Given the description of an element on the screen output the (x, y) to click on. 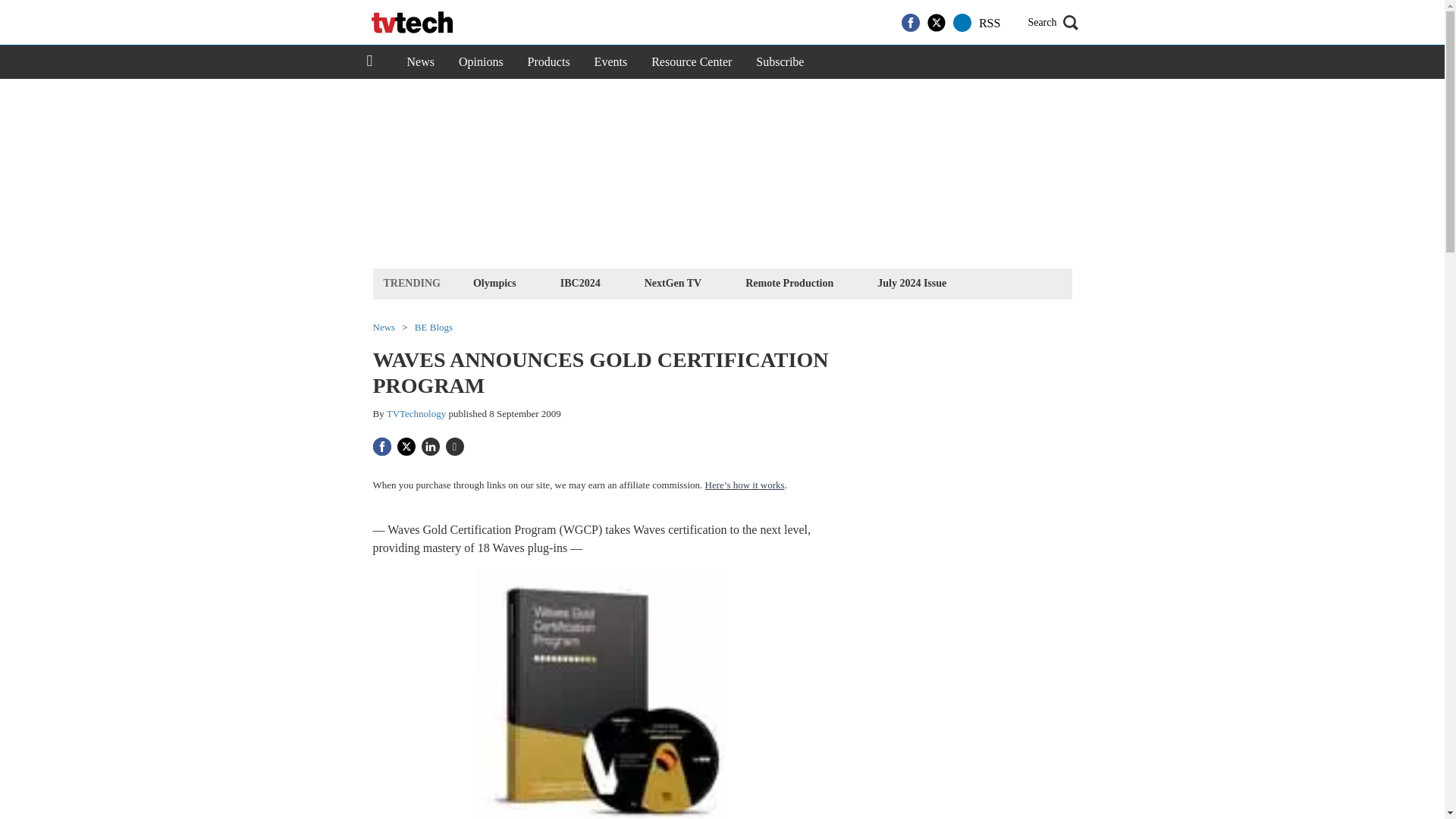
IBC2024 (579, 282)
Events (611, 61)
Subscribe (779, 61)
RSS (989, 22)
TVTechnology (416, 413)
News (419, 61)
Olympics (494, 282)
Opinions (480, 61)
Resource Center (691, 61)
BE Blogs (433, 327)
